Given the description of an element on the screen output the (x, y) to click on. 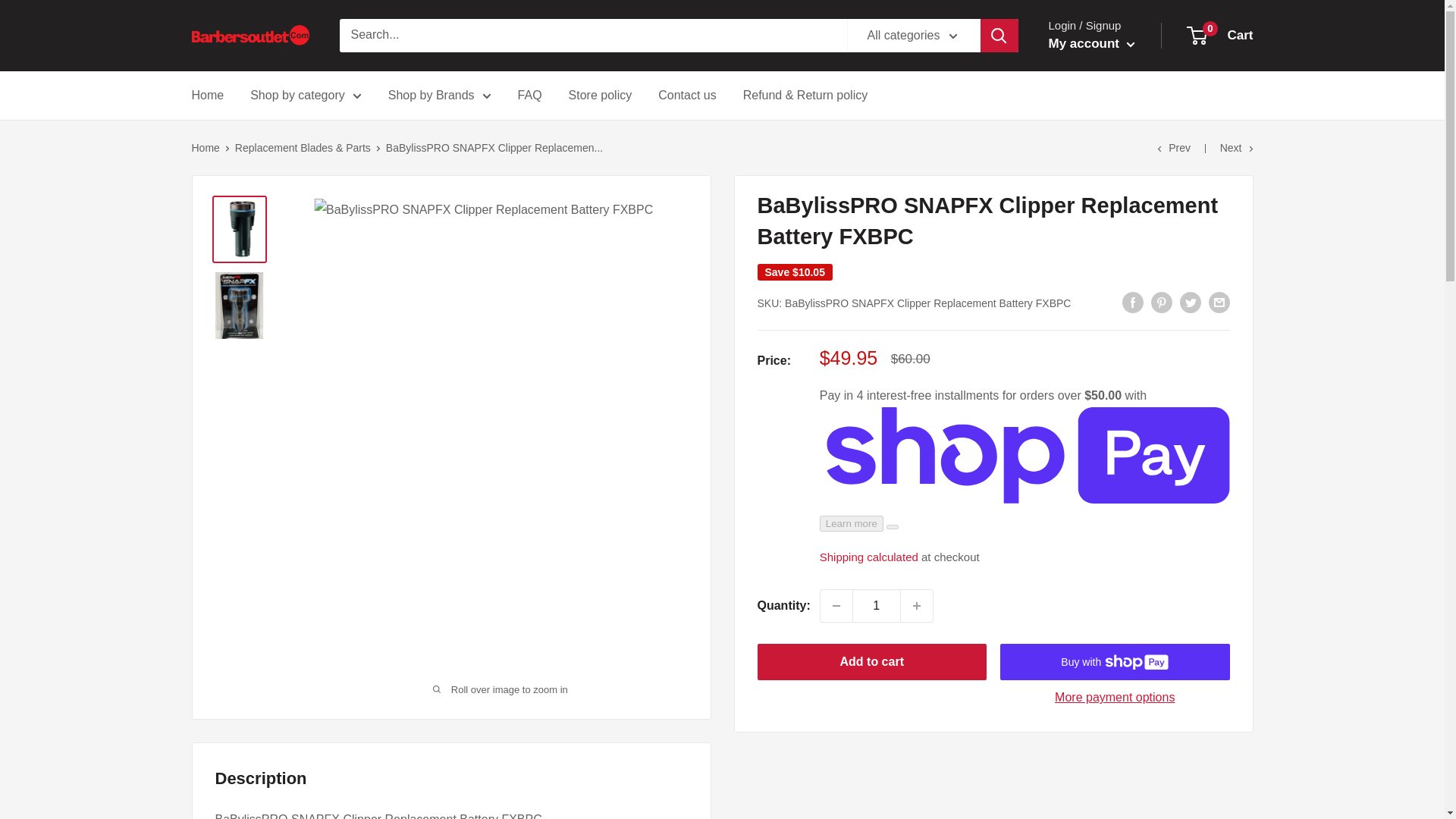
Decrease quantity by 1 (836, 605)
1 (876, 605)
Increase quantity by 1 (917, 605)
